Given the description of an element on the screen output the (x, y) to click on. 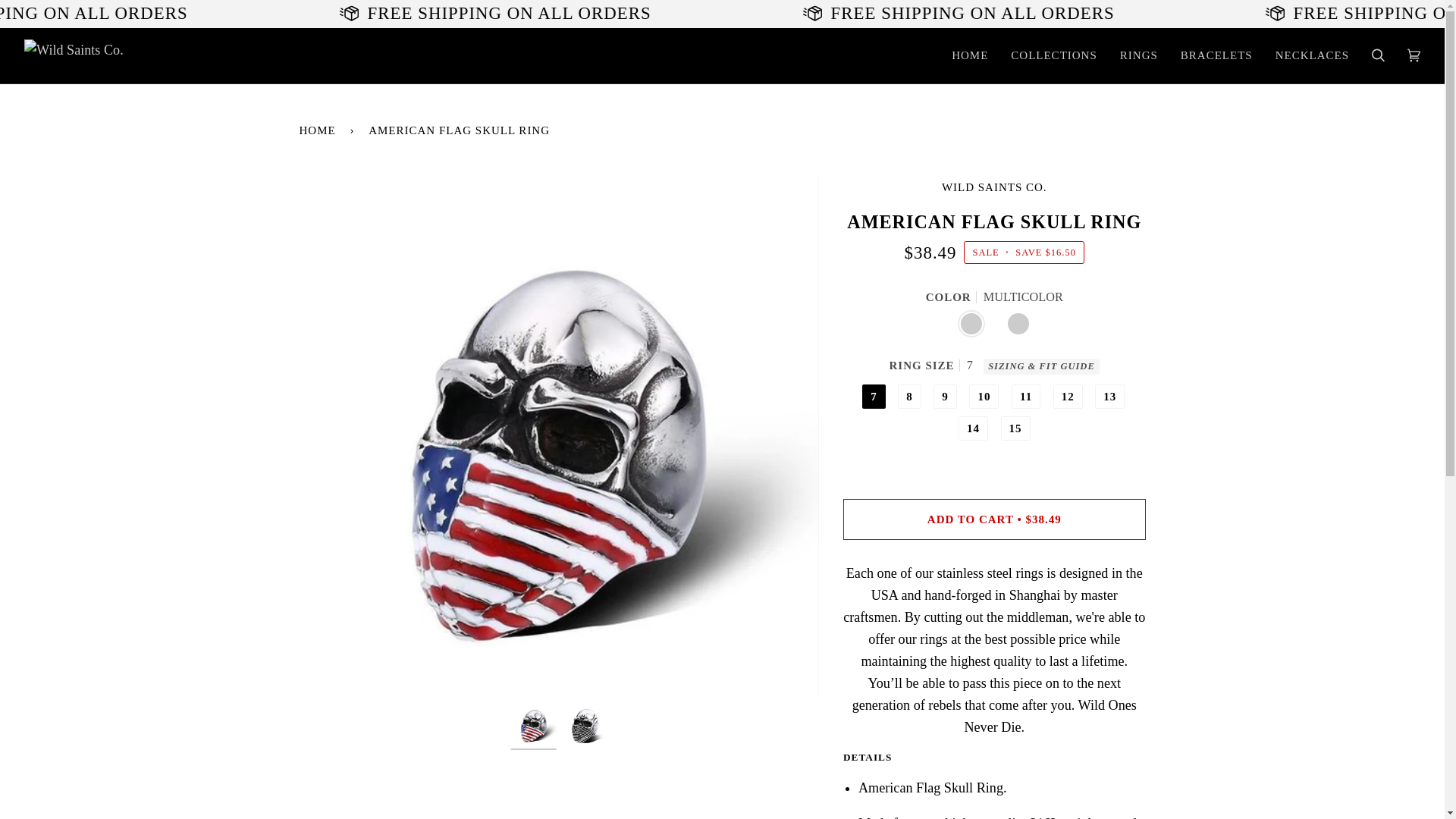
Back to the frontpage (319, 130)
COLLECTIONS (1053, 55)
NECKLACES (1311, 55)
HOME (969, 55)
RINGS (1138, 55)
BRACELETS (1216, 55)
